Given the description of an element on the screen output the (x, y) to click on. 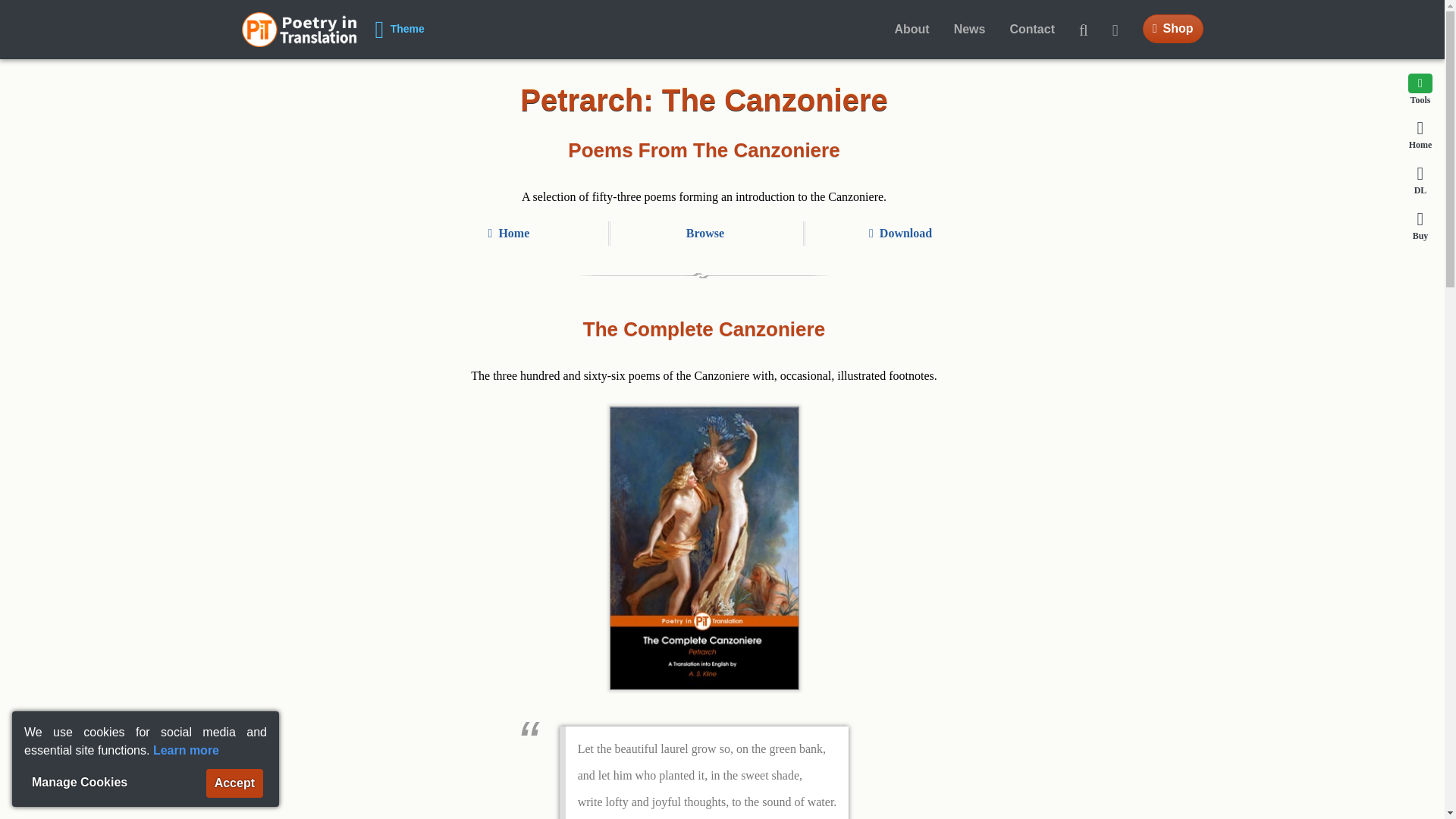
Contact Us (1032, 29)
Buy This Book (1420, 224)
News (969, 29)
Account Login (1121, 29)
DL (1420, 179)
Contact (1032, 29)
Search Poetry in Translation (1083, 29)
News Updates (969, 29)
Home (1420, 133)
Home (298, 29)
